Given the description of an element on the screen output the (x, y) to click on. 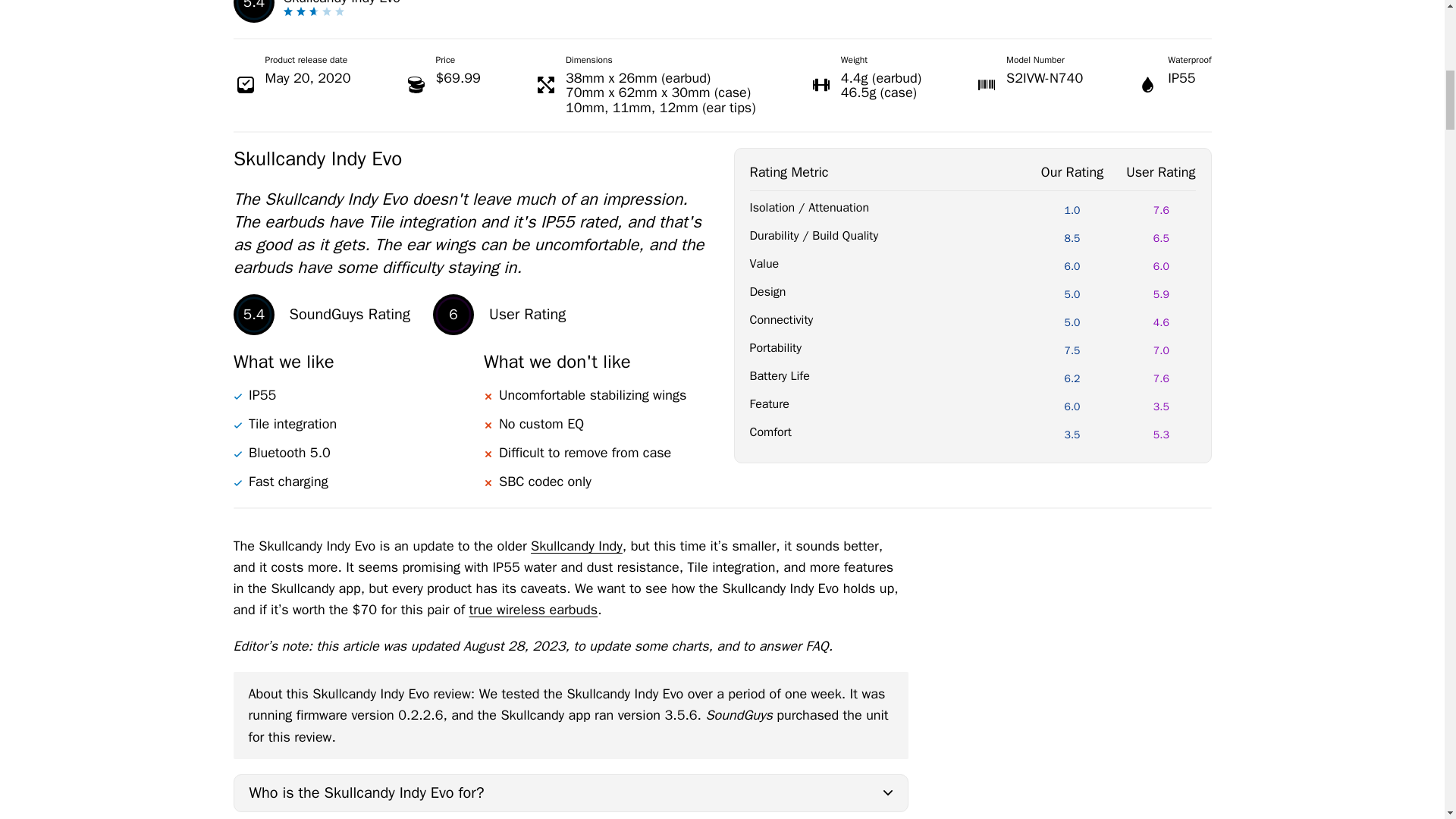
true wireless earbuds (532, 609)
Who is the Skullcandy Indy Evo for? (570, 792)
Skullcandy Indy (577, 545)
